Given the description of an element on the screen output the (x, y) to click on. 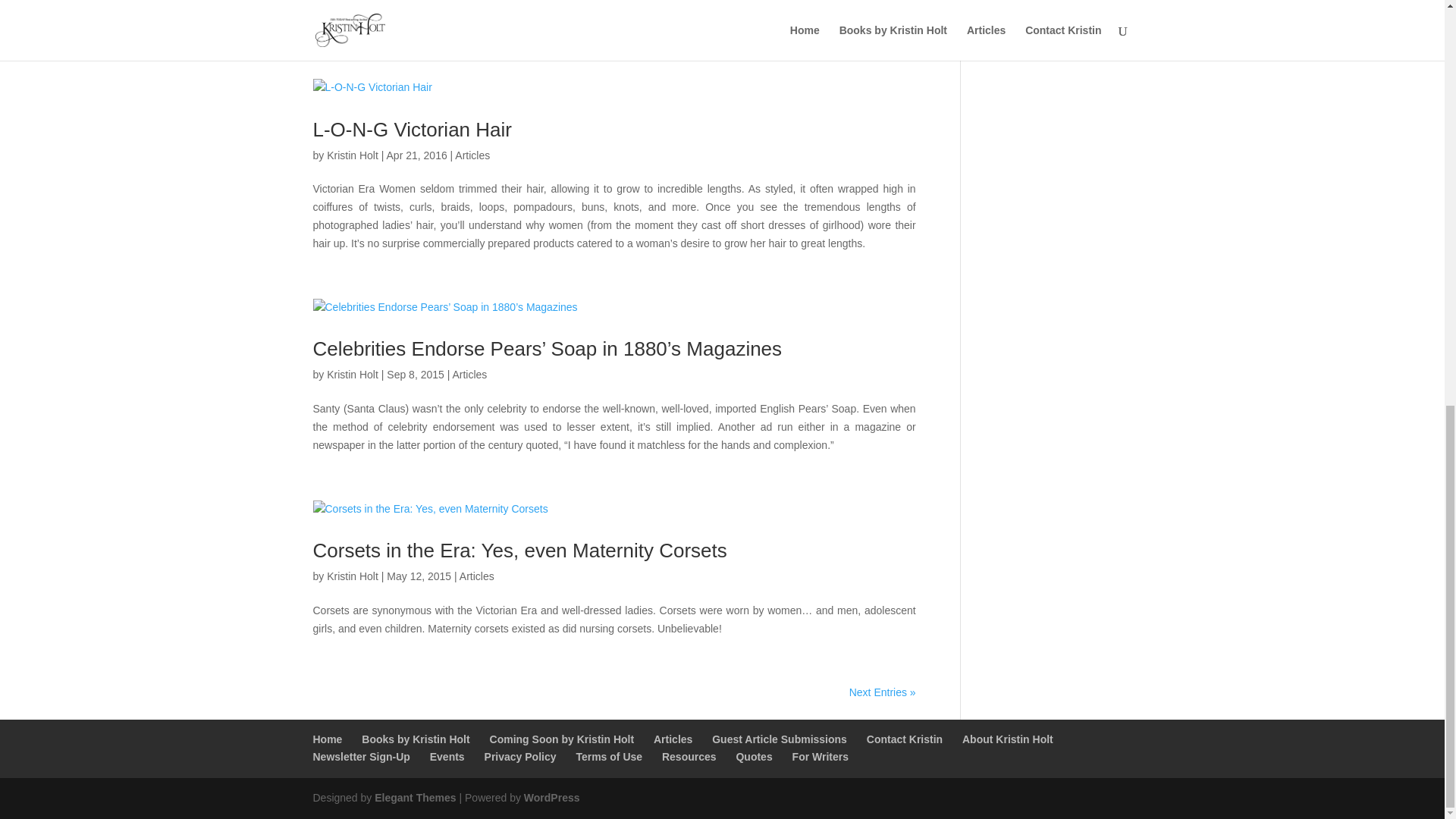
About Kristin Holt (1007, 739)
Coming Soon by Kristin Holt (561, 739)
Posts by Kristin Holt (352, 374)
Kristin Holt (352, 155)
Articles (471, 155)
Newsletter Sign-Up (361, 756)
Guest Article Submissions (779, 739)
Articles (673, 739)
Posts by Kristin Holt (352, 576)
Books by Kristin Holt (414, 739)
